Given the description of an element on the screen output the (x, y) to click on. 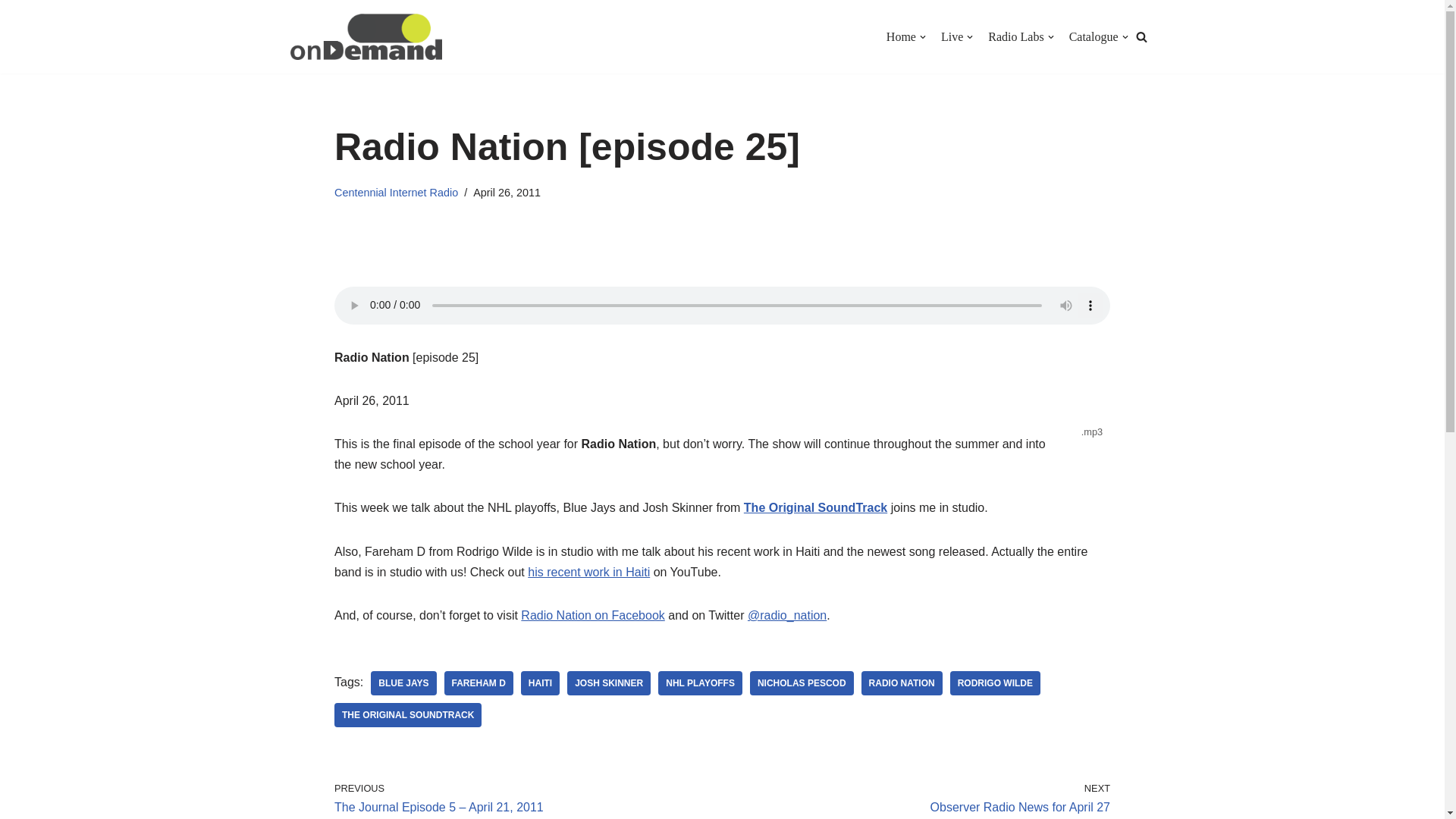
Josh Skinner (608, 682)
his recent work in Haiti (588, 571)
The Original SoundTrack (407, 714)
Radio Nation (901, 682)
Rodrigo Wilde (995, 682)
Radio Labs (1015, 36)
Haiti (540, 682)
Centennial Internet Radio (396, 192)
Blue Jays (403, 682)
Skip to content (11, 31)
